Given the description of an element on the screen output the (x, y) to click on. 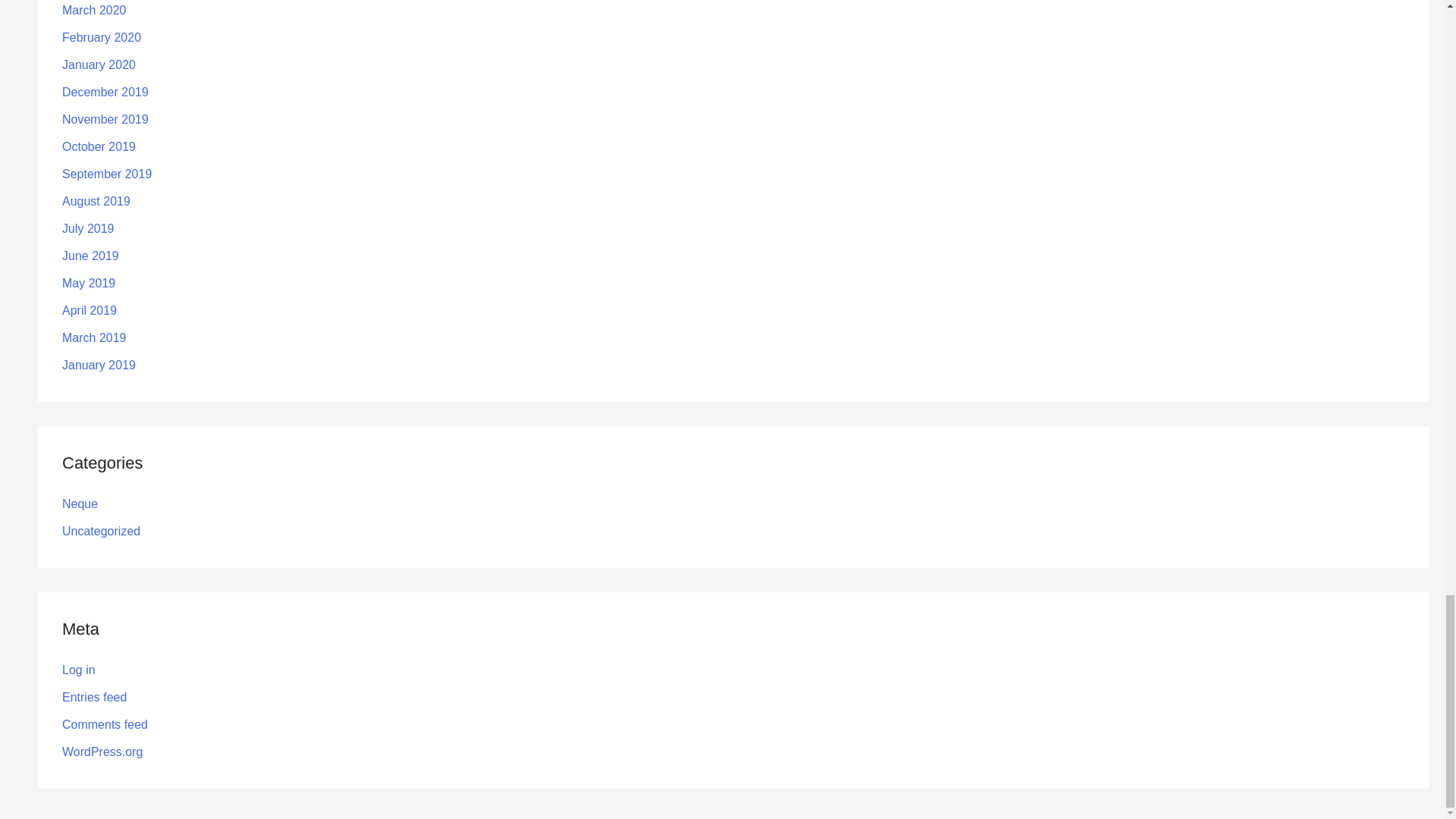
December 2019 (105, 91)
January 2020 (98, 64)
February 2020 (101, 37)
March 2020 (94, 10)
